Given the description of an element on the screen output the (x, y) to click on. 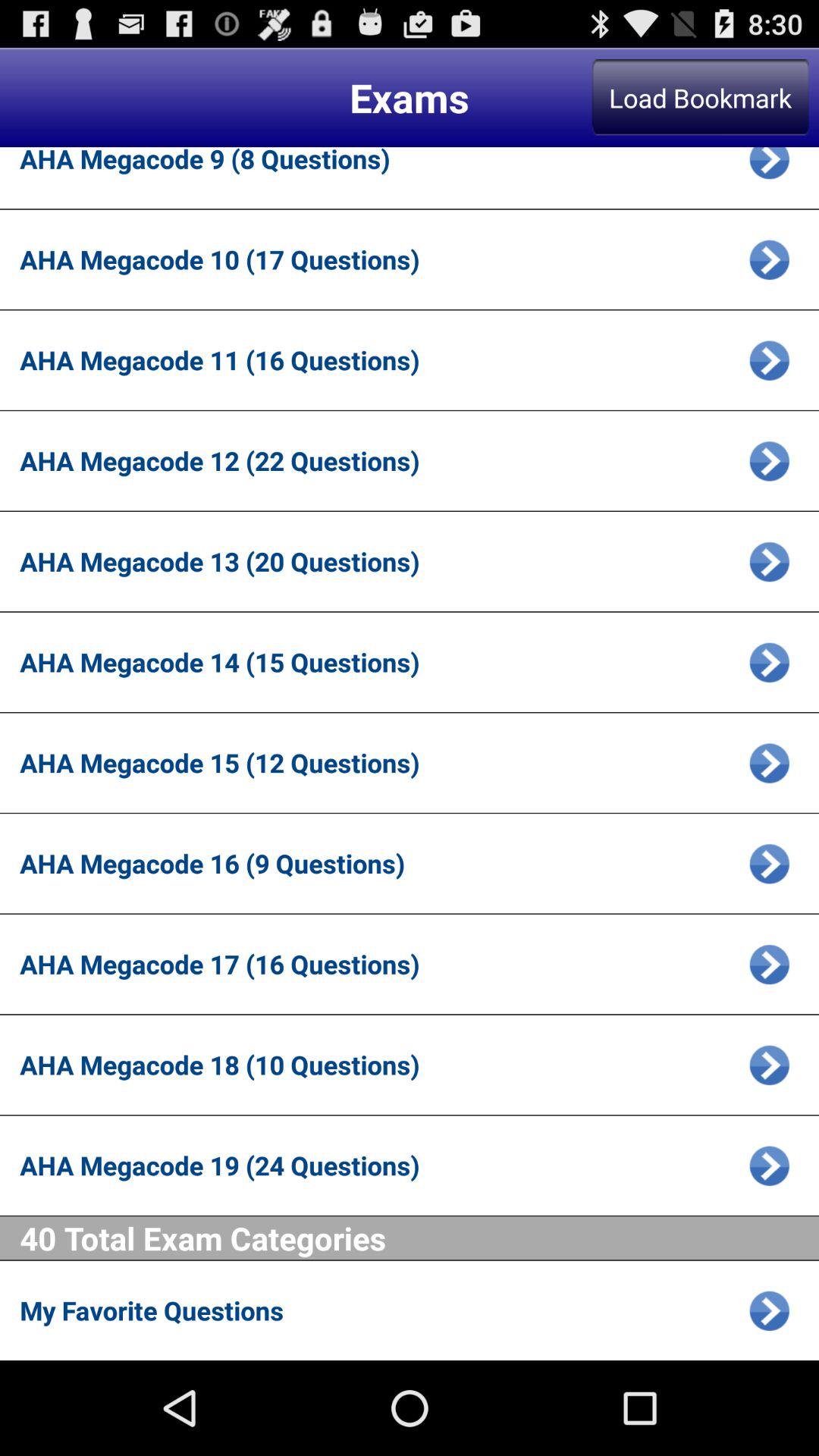
open selected (769, 1310)
